Given the description of an element on the screen output the (x, y) to click on. 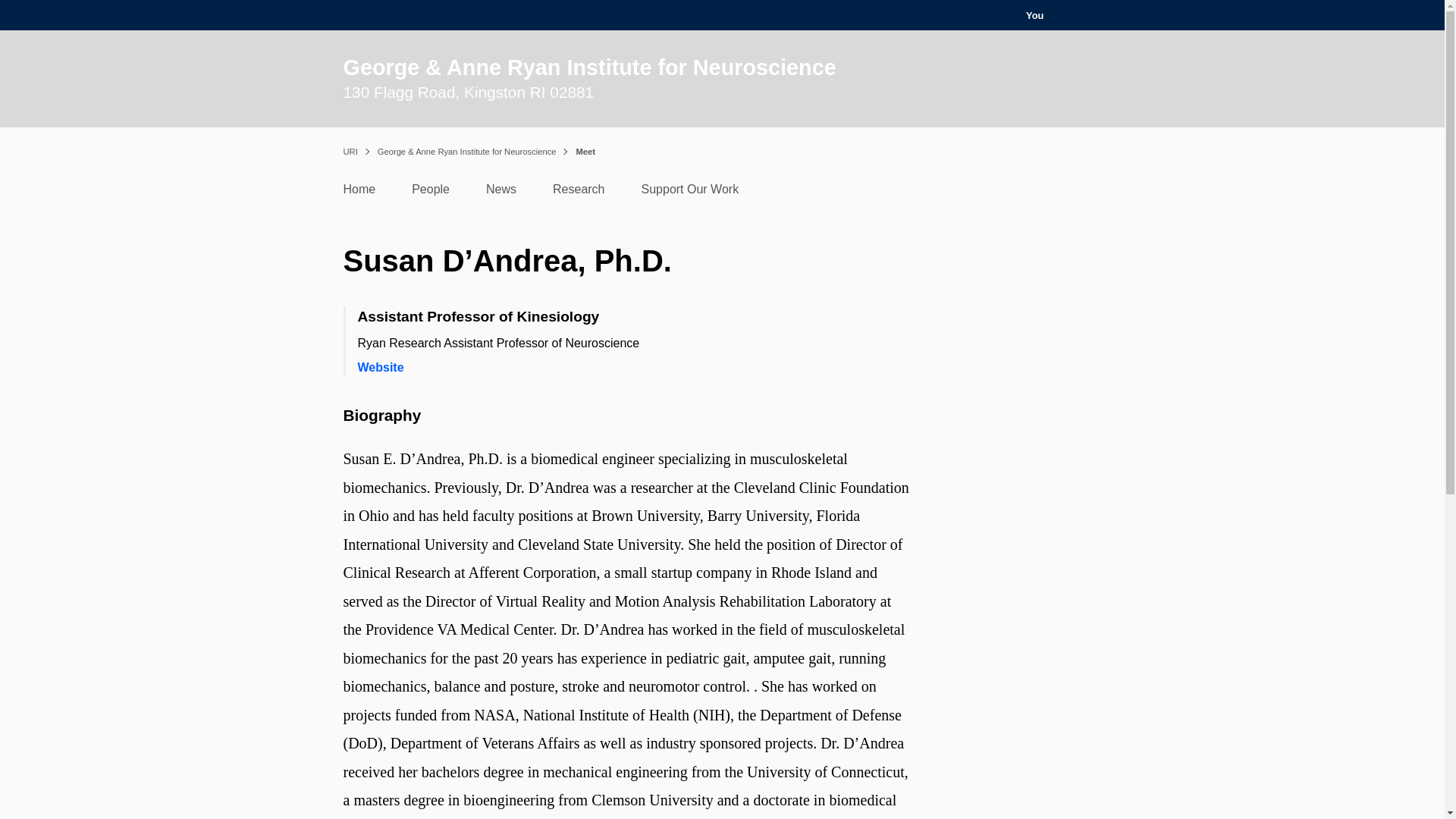
Support Our Work (690, 192)
People (430, 192)
Research (578, 192)
News (501, 192)
Website (381, 367)
Home (358, 192)
URI (349, 151)
